Given the description of an element on the screen output the (x, y) to click on. 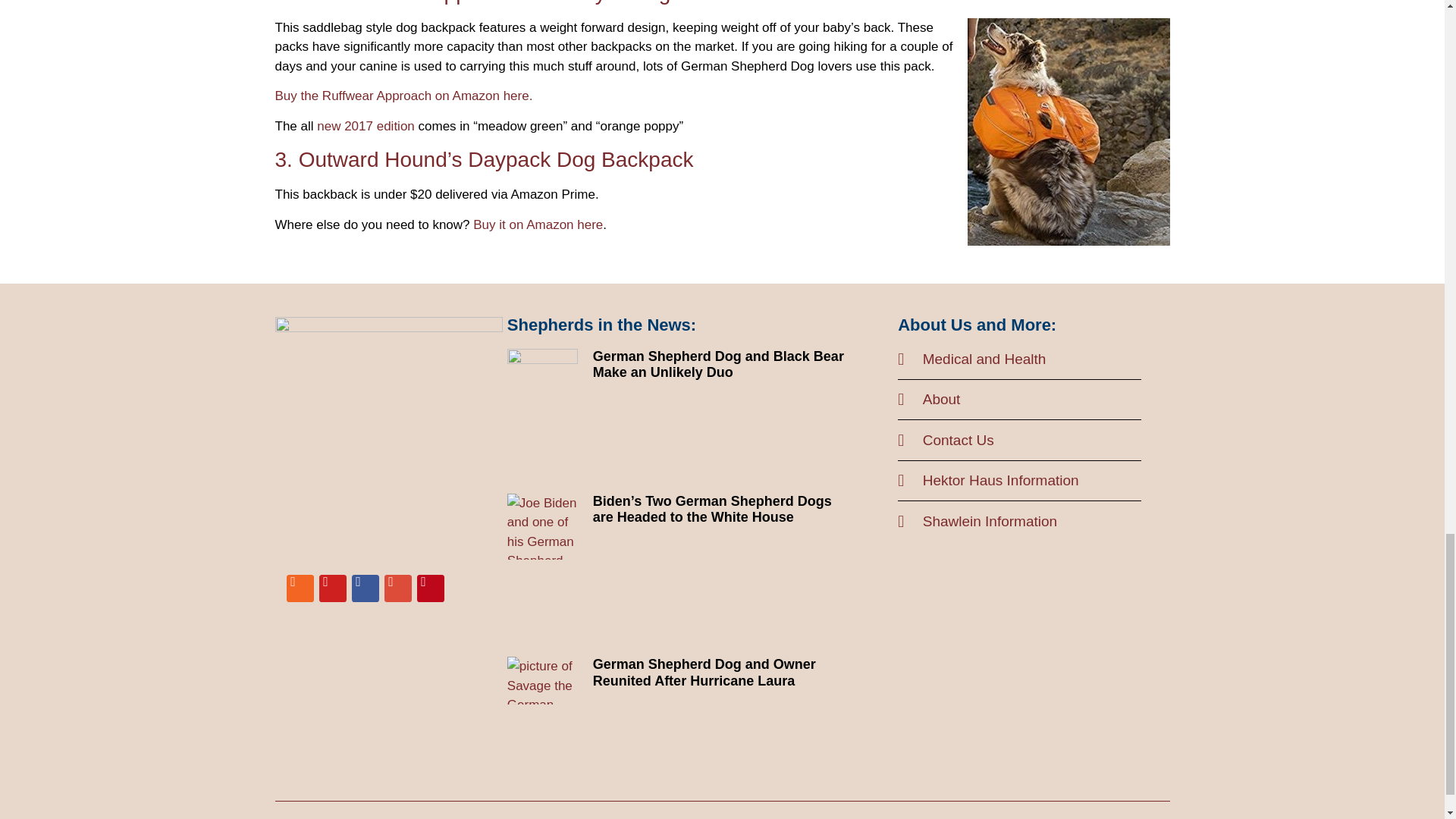
Buy it on Amazon here (537, 224)
About (1019, 400)
new 2017 edition (365, 125)
German Shepherd Dog and Owner Reunited After Hurricane Laura (703, 672)
German Shepherd Dog and Black Bear Make an Unlikely Duo (718, 364)
Buy the Ruffwear Approach on Amazon here. (403, 95)
Medical and Health (1019, 359)
